Given the description of an element on the screen output the (x, y) to click on. 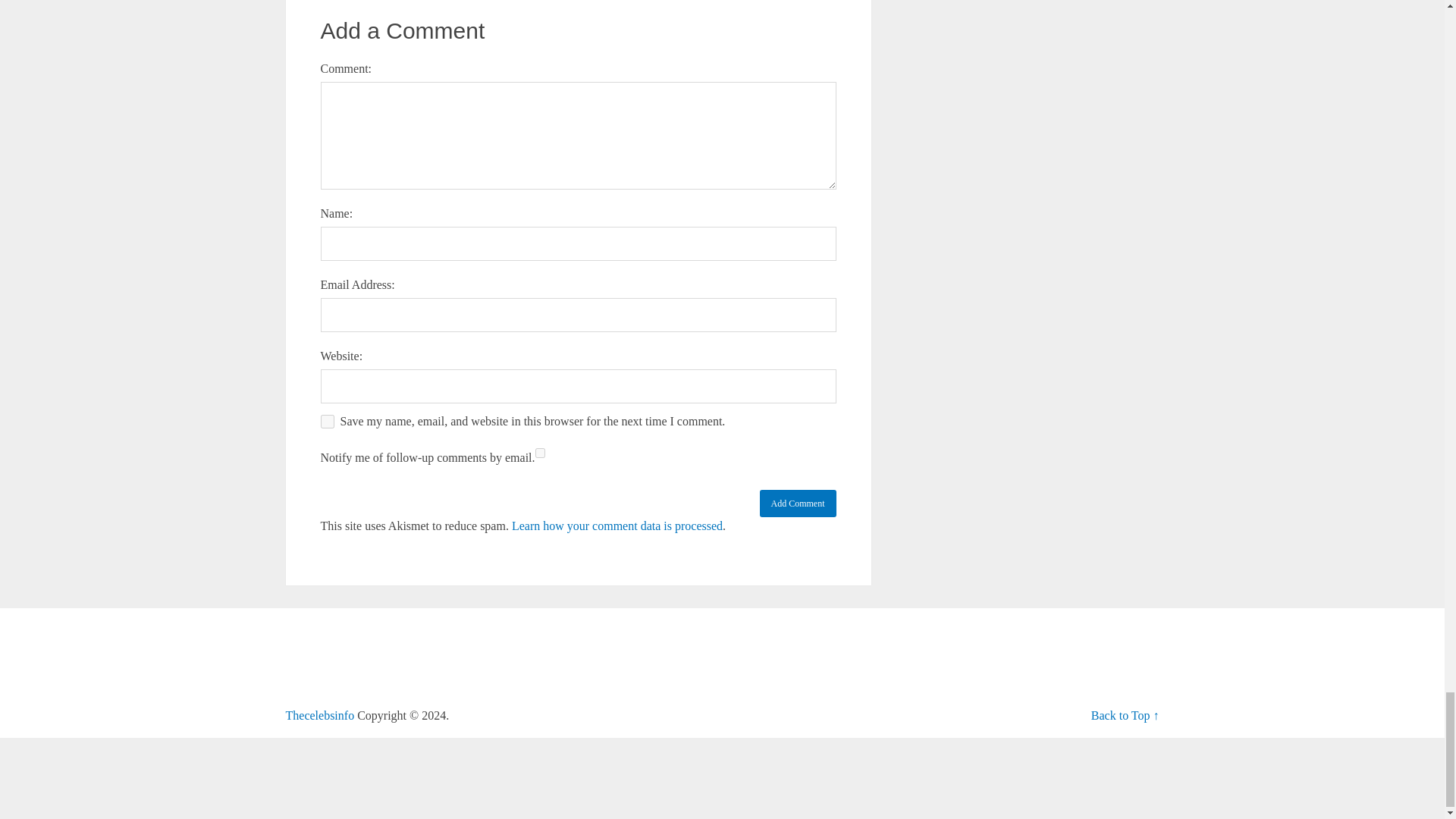
yes (326, 421)
subscribe (539, 452)
Add Comment (797, 502)
Add Comment (797, 502)
